Given the description of an element on the screen output the (x, y) to click on. 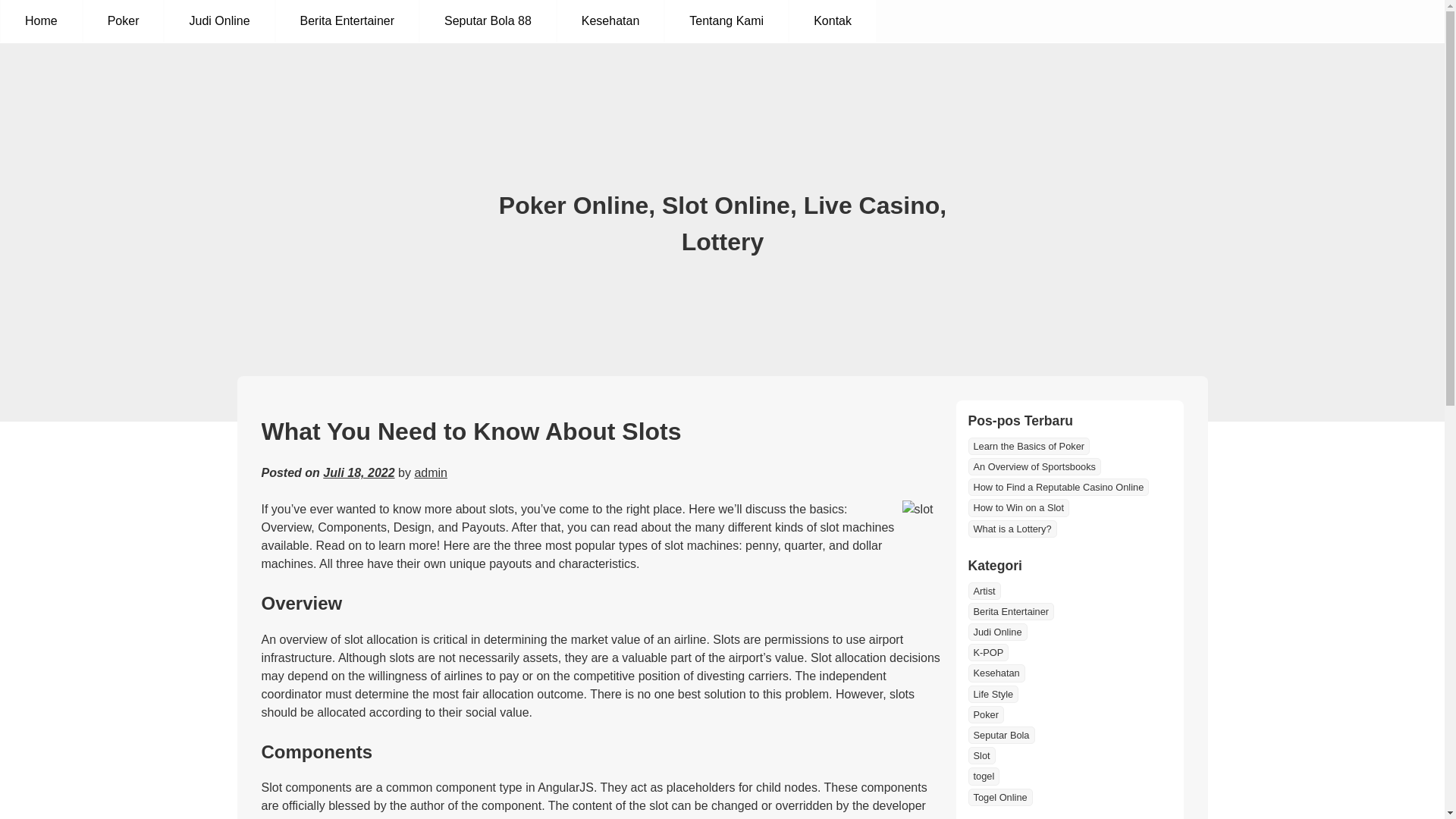
Seputar Bola (1000, 734)
Kontak (832, 21)
Berita Entertainer (1011, 610)
How to Win on a Slot (1018, 507)
Artist (984, 590)
Berita Entertainer (347, 21)
Tentang Kami (726, 21)
Home (41, 21)
Juli 18, 2022 (358, 472)
Poker (985, 714)
How to Find a Reputable Casino Online (1058, 487)
Kesehatan (610, 21)
Judi Online (218, 21)
Slot (981, 755)
Seputar Bola 88 (488, 21)
